Given the description of an element on the screen output the (x, y) to click on. 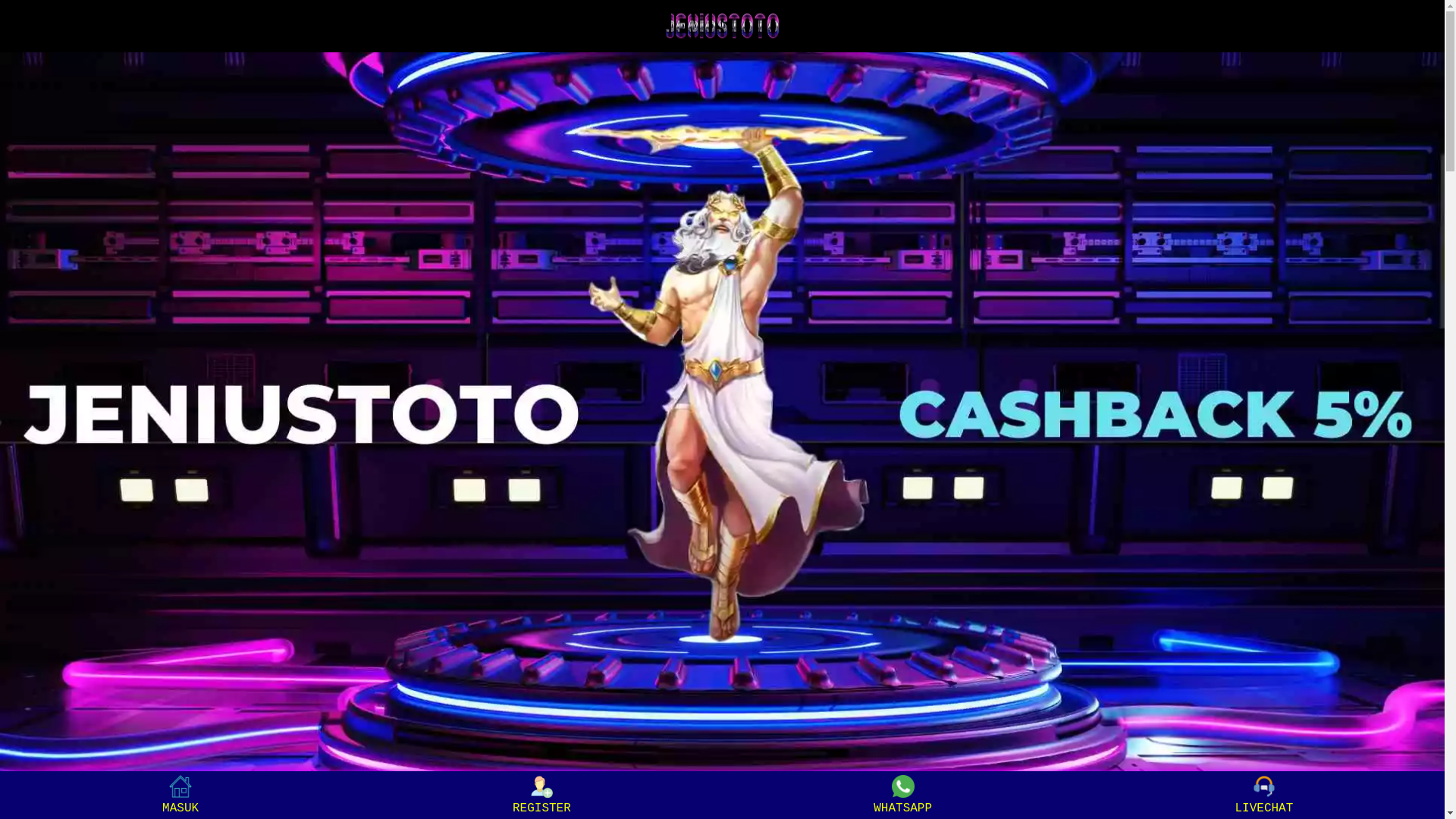
REGISTER Element type: text (541, 795)
MASUK Element type: text (180, 795)
WHATSAPP Element type: text (902, 795)
Togel Hongkong Hari Ini Element type: hover (722, 413)
LIVECHAT Element type: text (1263, 795)
